Given the description of an element on the screen output the (x, y) to click on. 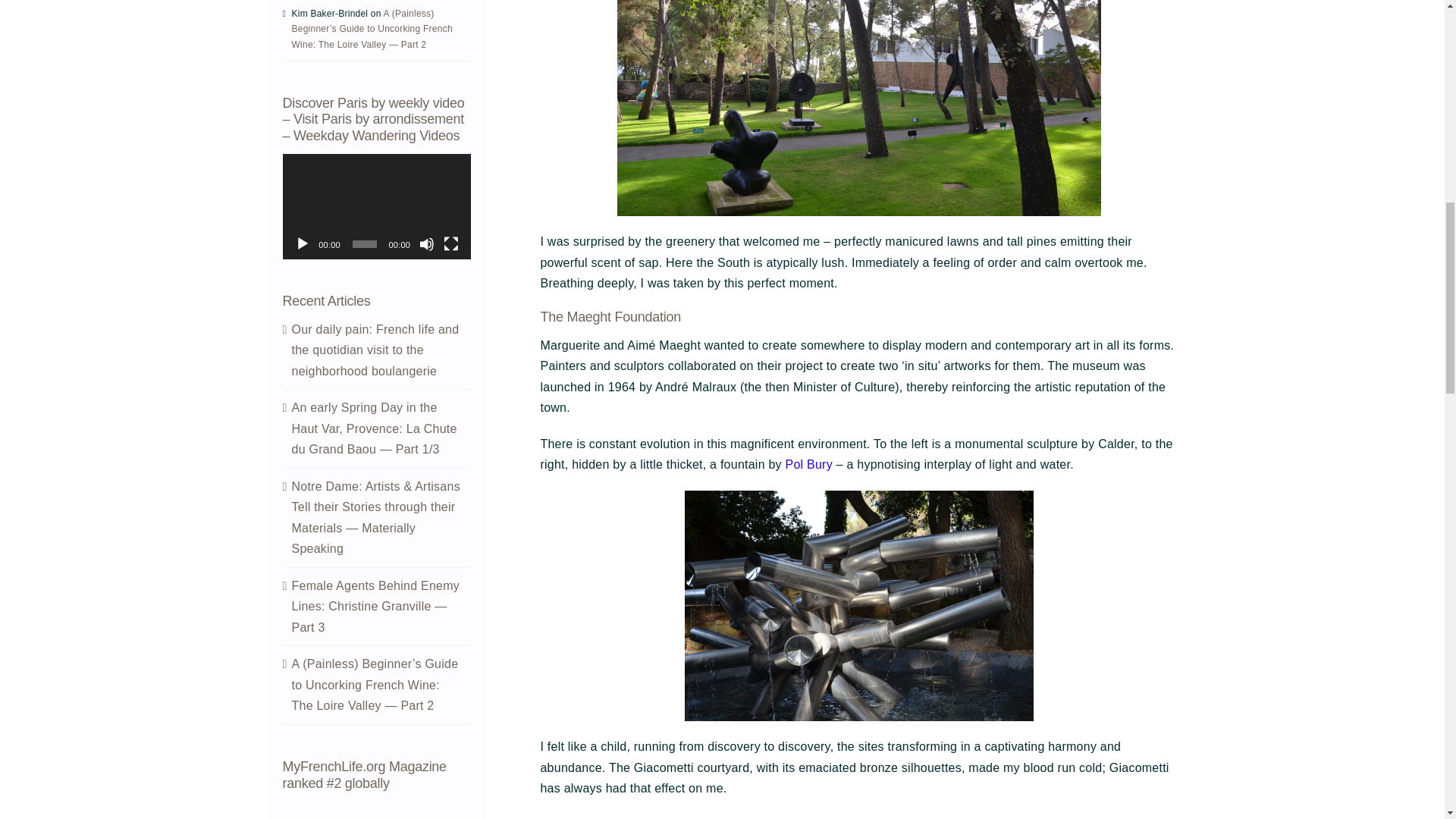
Pol Bury (809, 463)
Play (301, 243)
Mute (426, 243)
